Given the description of an element on the screen output the (x, y) to click on. 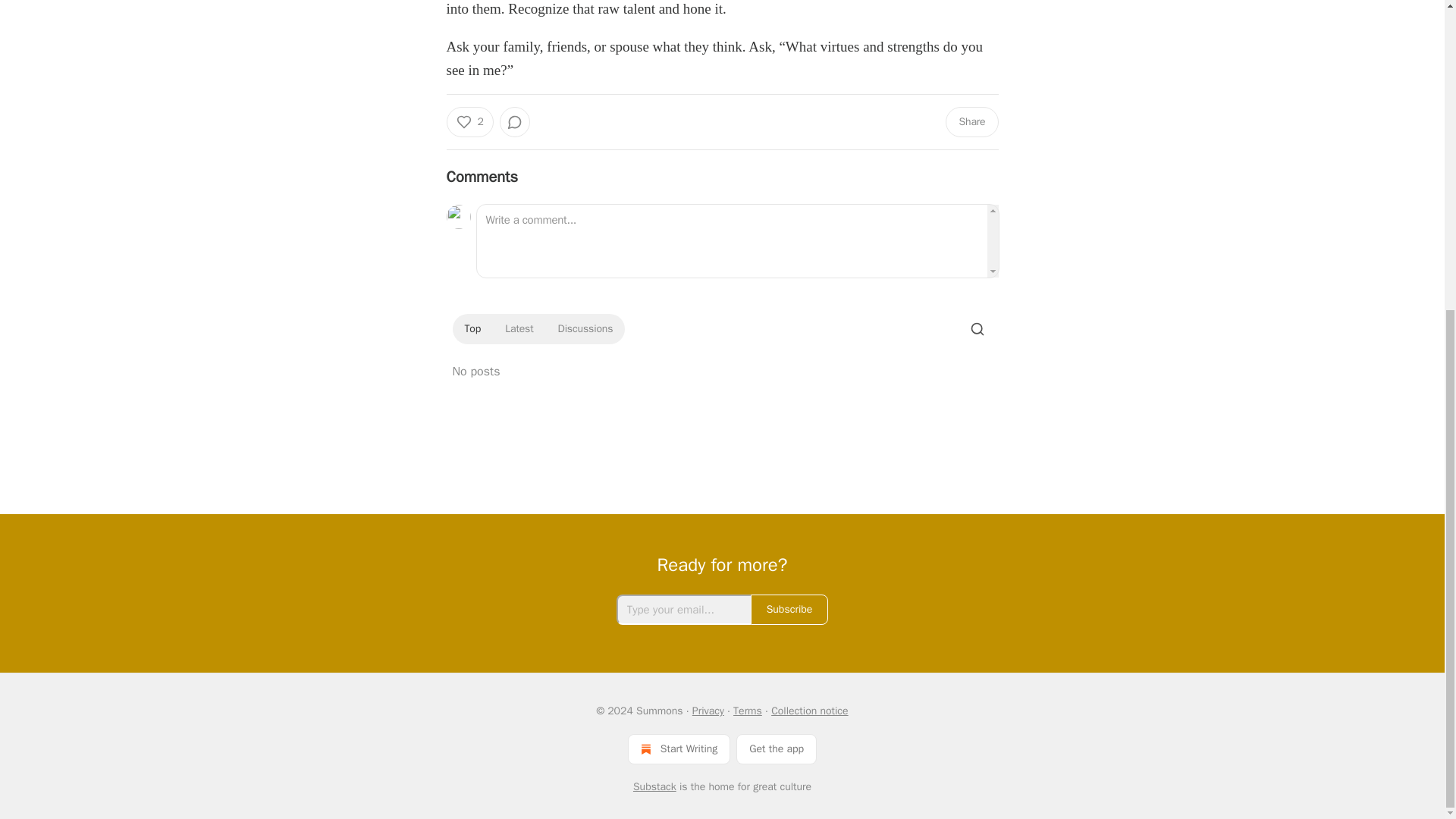
Latest (518, 328)
Substack (655, 786)
Discussions (585, 328)
Collection notice (809, 710)
Start Writing (678, 748)
Privacy (708, 710)
Get the app (776, 748)
2 (469, 122)
Top (471, 328)
Terms (747, 710)
Share (970, 122)
Subscribe (789, 609)
